Given the description of an element on the screen output the (x, y) to click on. 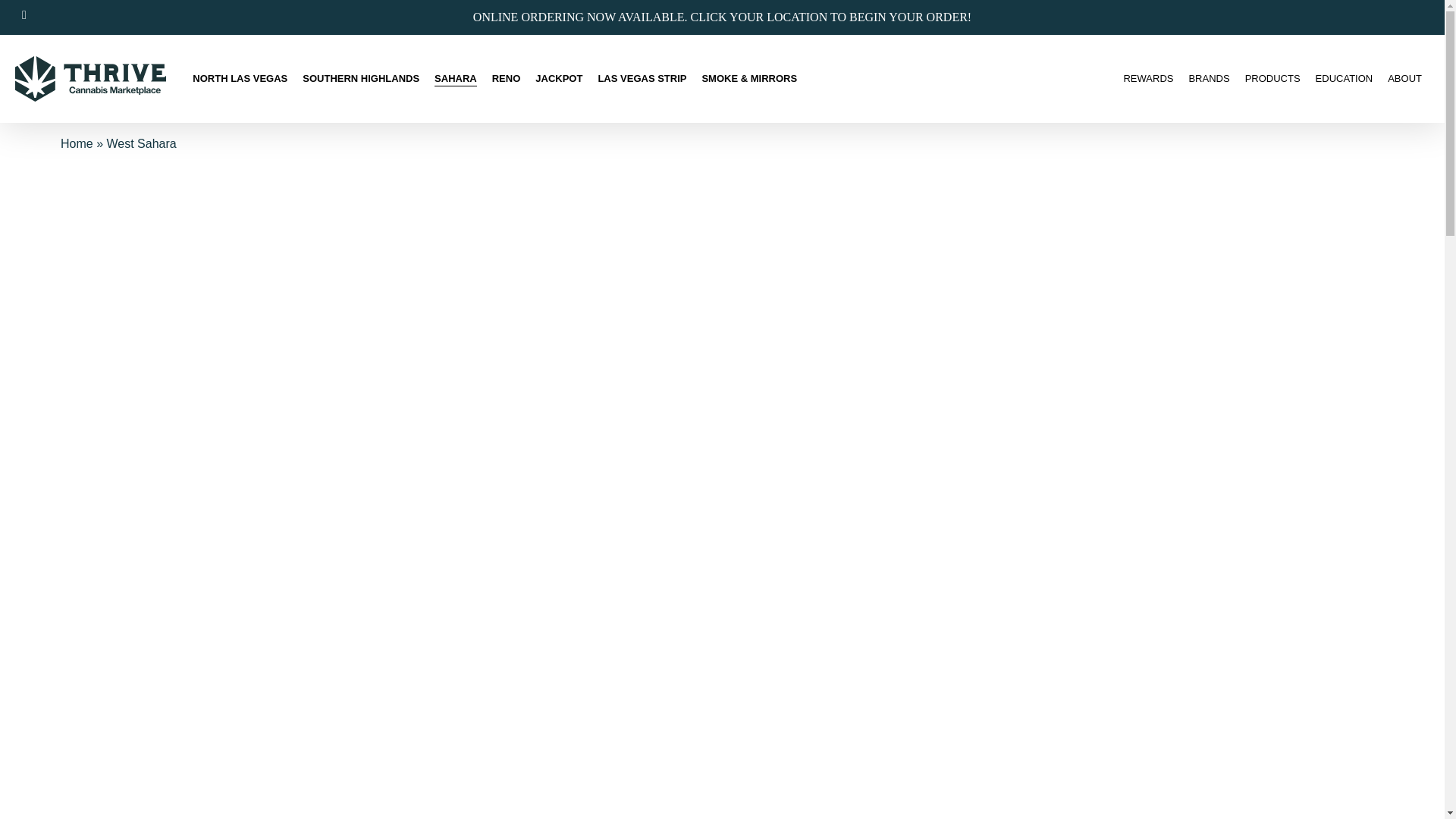
EDUCATION (1344, 78)
JACKPOT (558, 78)
BRANDS (1208, 78)
NORTH LAS VEGAS (239, 78)
PRODUCTS (1272, 78)
SOUTHERN HIGHLANDS (360, 78)
LAS VEGAS STRIP (640, 78)
SAHARA (455, 78)
REWARDS (1147, 78)
RENO (506, 78)
